Given the description of an element on the screen output the (x, y) to click on. 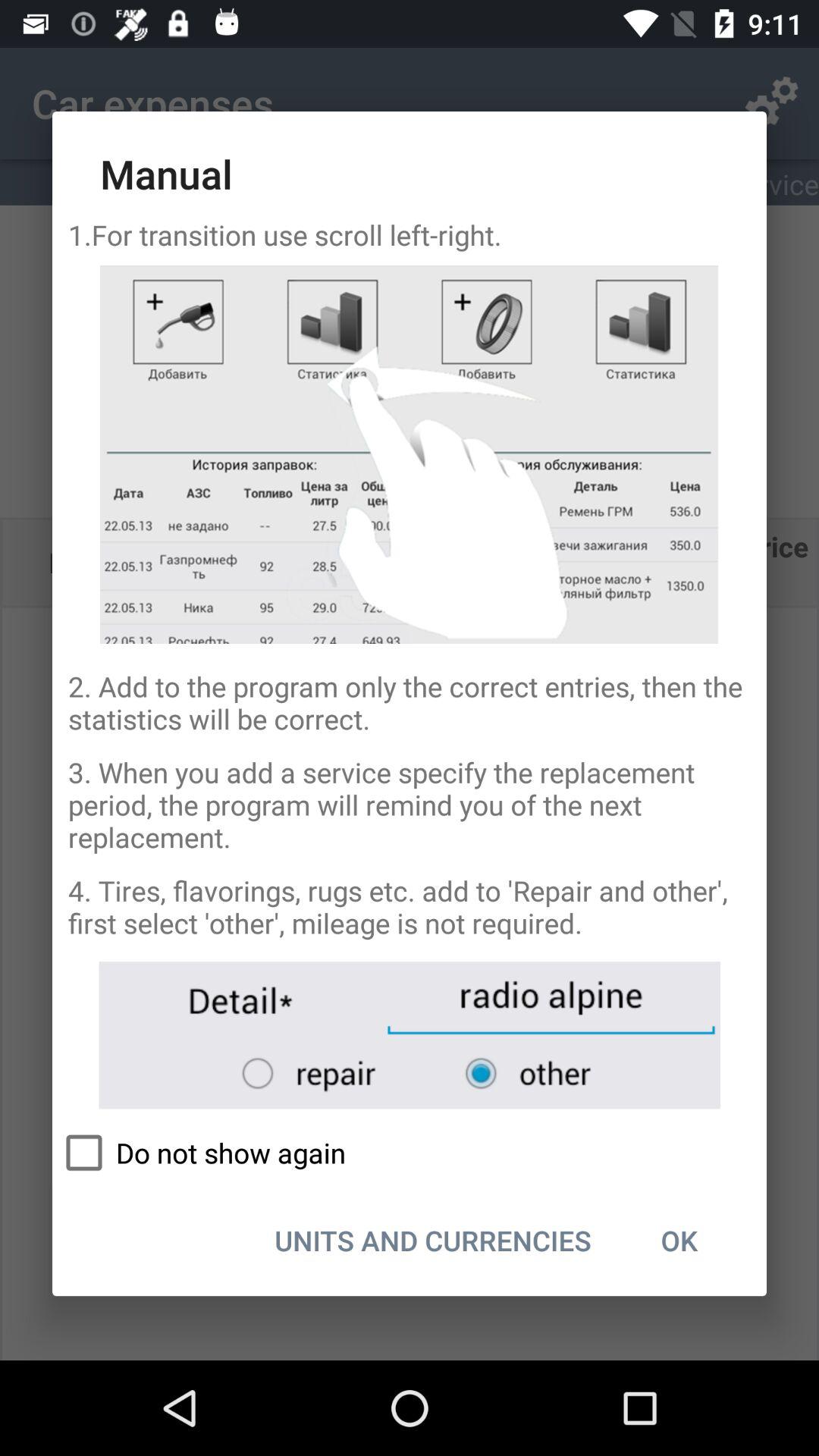
choose the ok item (678, 1240)
